Given the description of an element on the screen output the (x, y) to click on. 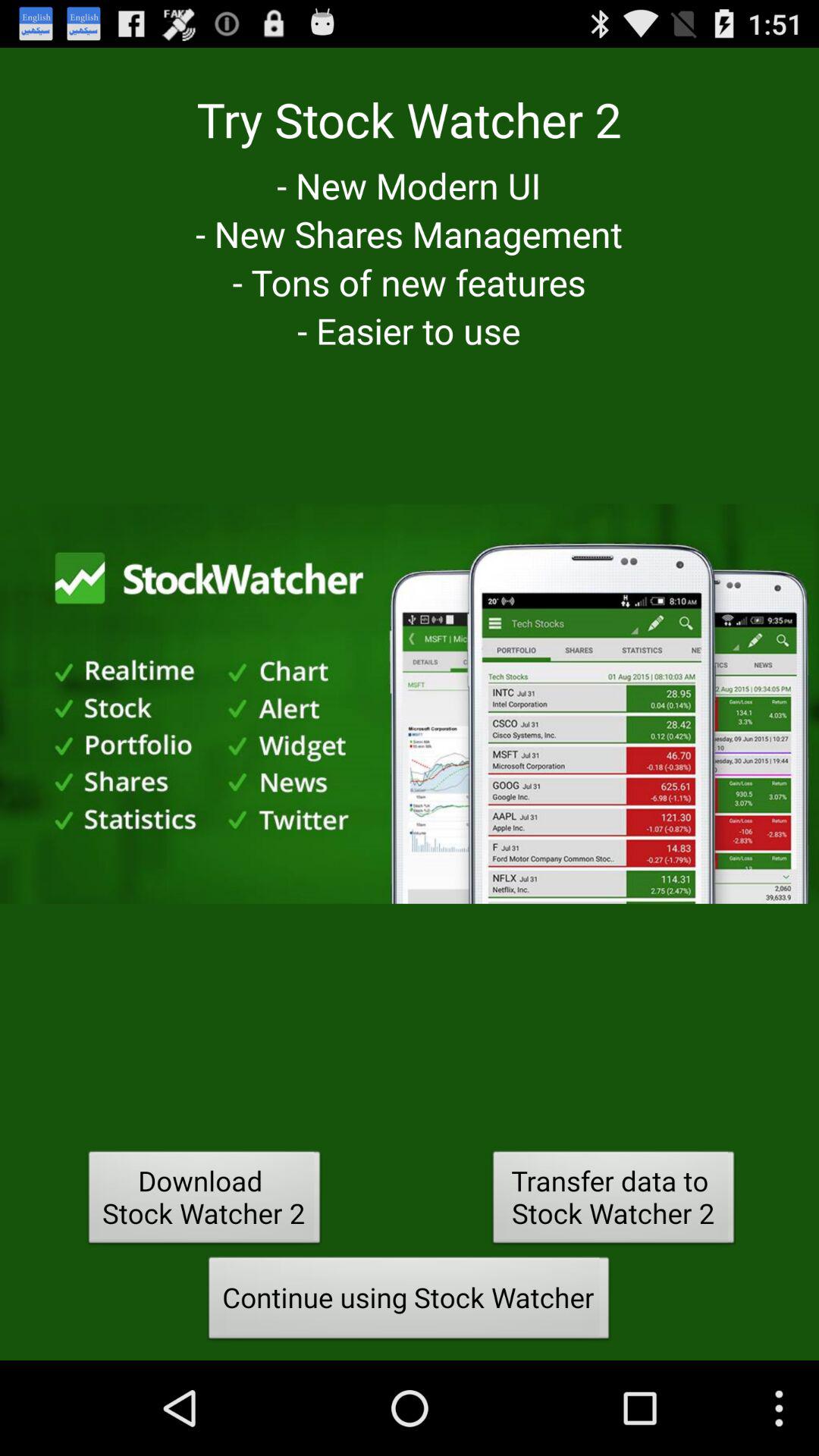
select continue using stock icon (409, 1302)
